Given the description of an element on the screen output the (x, y) to click on. 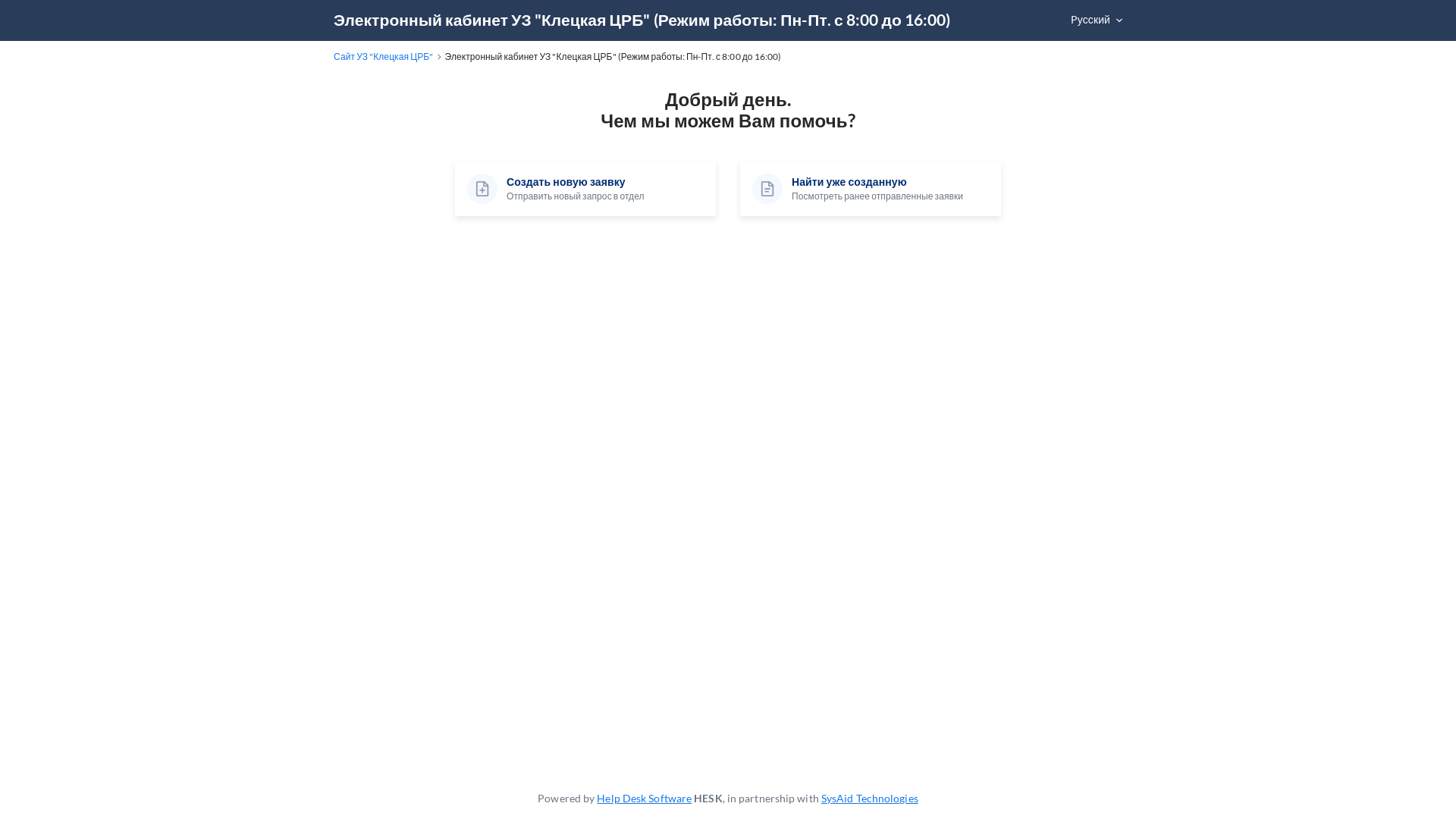
SysAid Technologies Element type: text (869, 797)
Help Desk Software Element type: text (643, 797)
